Given the description of an element on the screen output the (x, y) to click on. 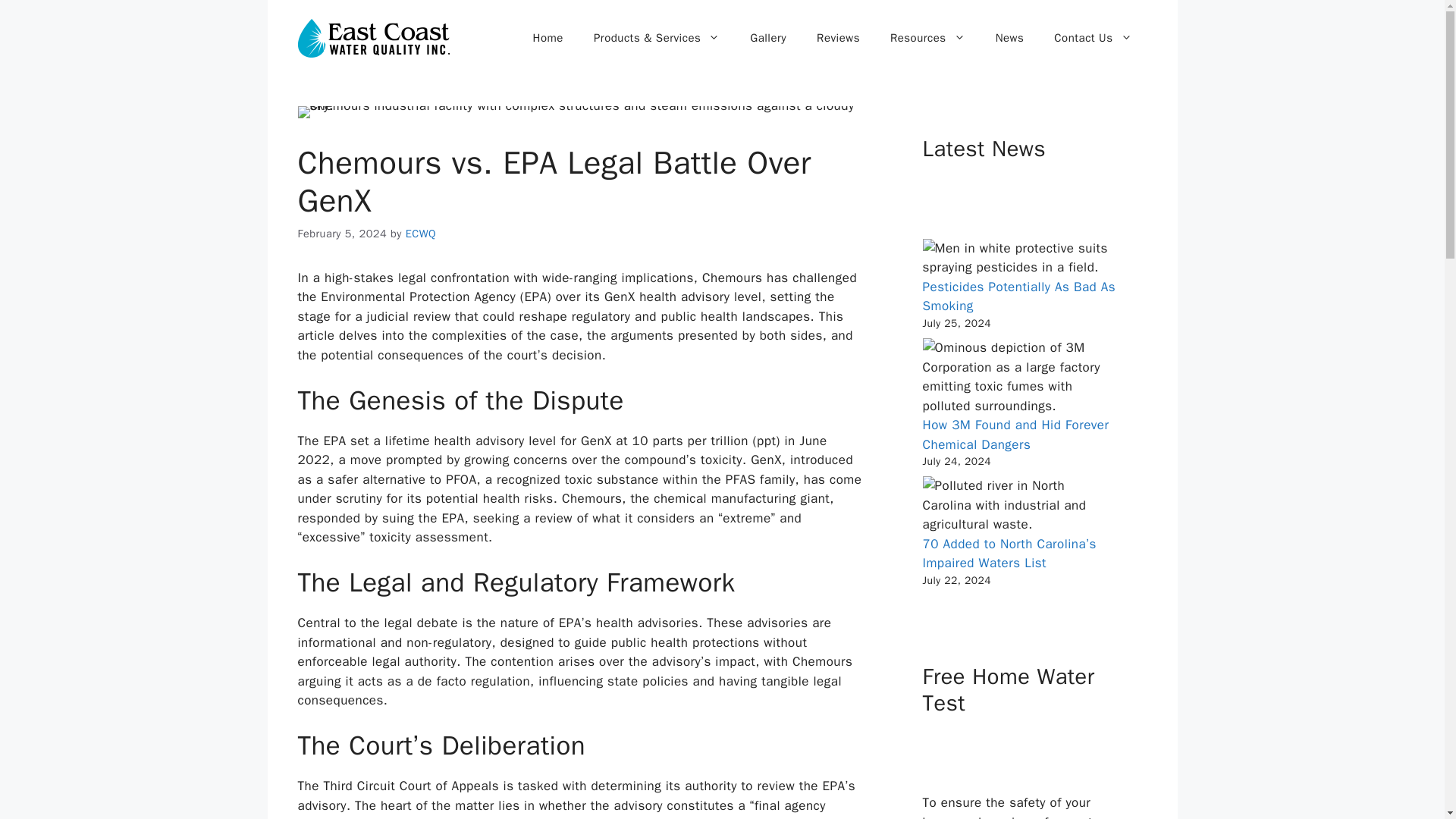
Home (548, 37)
View all posts by ECWQ (420, 233)
Resources (927, 37)
Reviews (838, 37)
ECWQ (420, 233)
News (1009, 37)
Gallery (768, 37)
Contact Us (1093, 37)
